Given the description of an element on the screen output the (x, y) to click on. 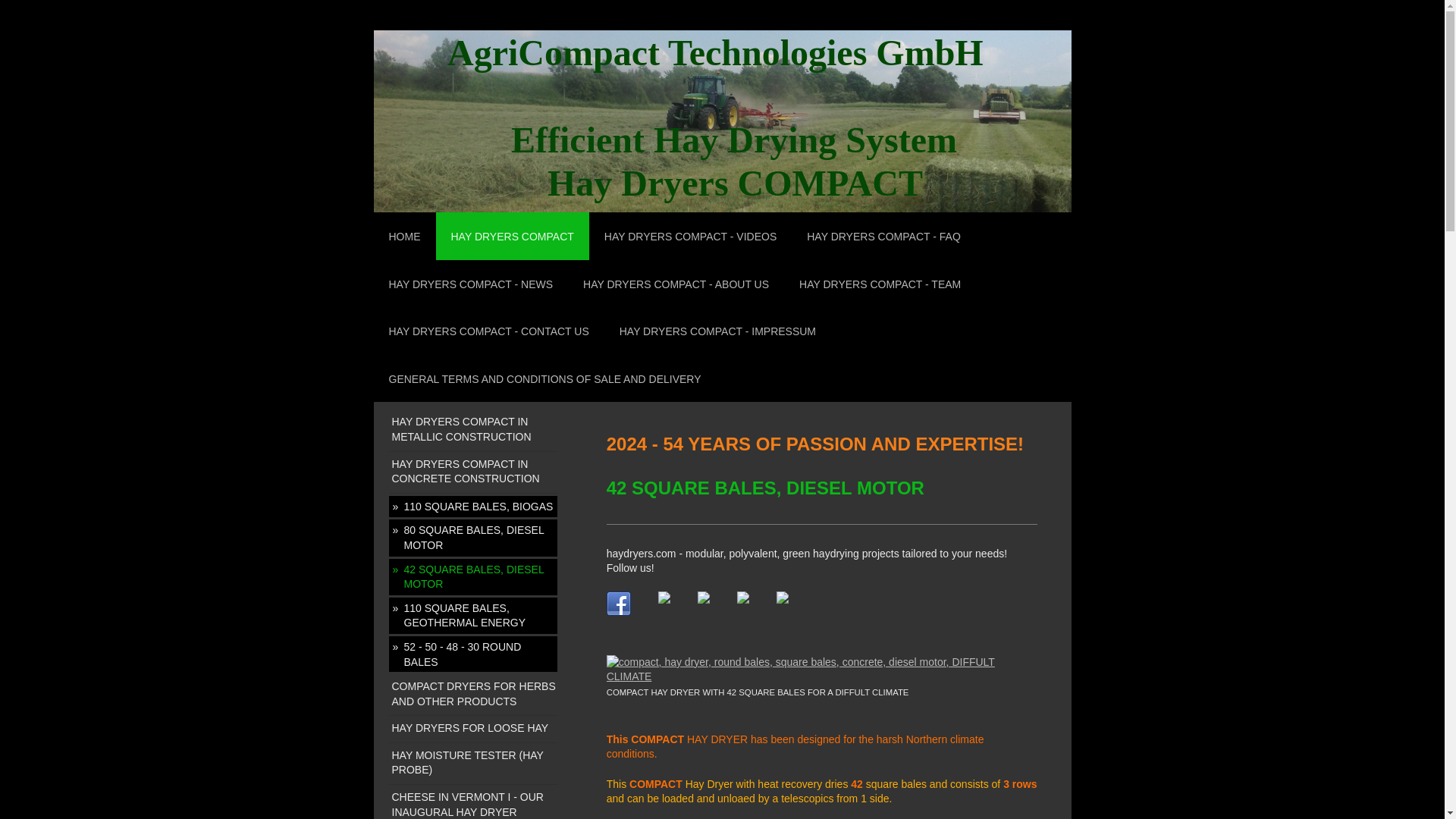
HOME (403, 236)
COMPACT HAY DRYER WITH 42 SQUARE BALES FOR A DIFFULT CLIMATE (821, 676)
HAY DRYERS COMPACT (511, 236)
